Given the description of an element on the screen output the (x, y) to click on. 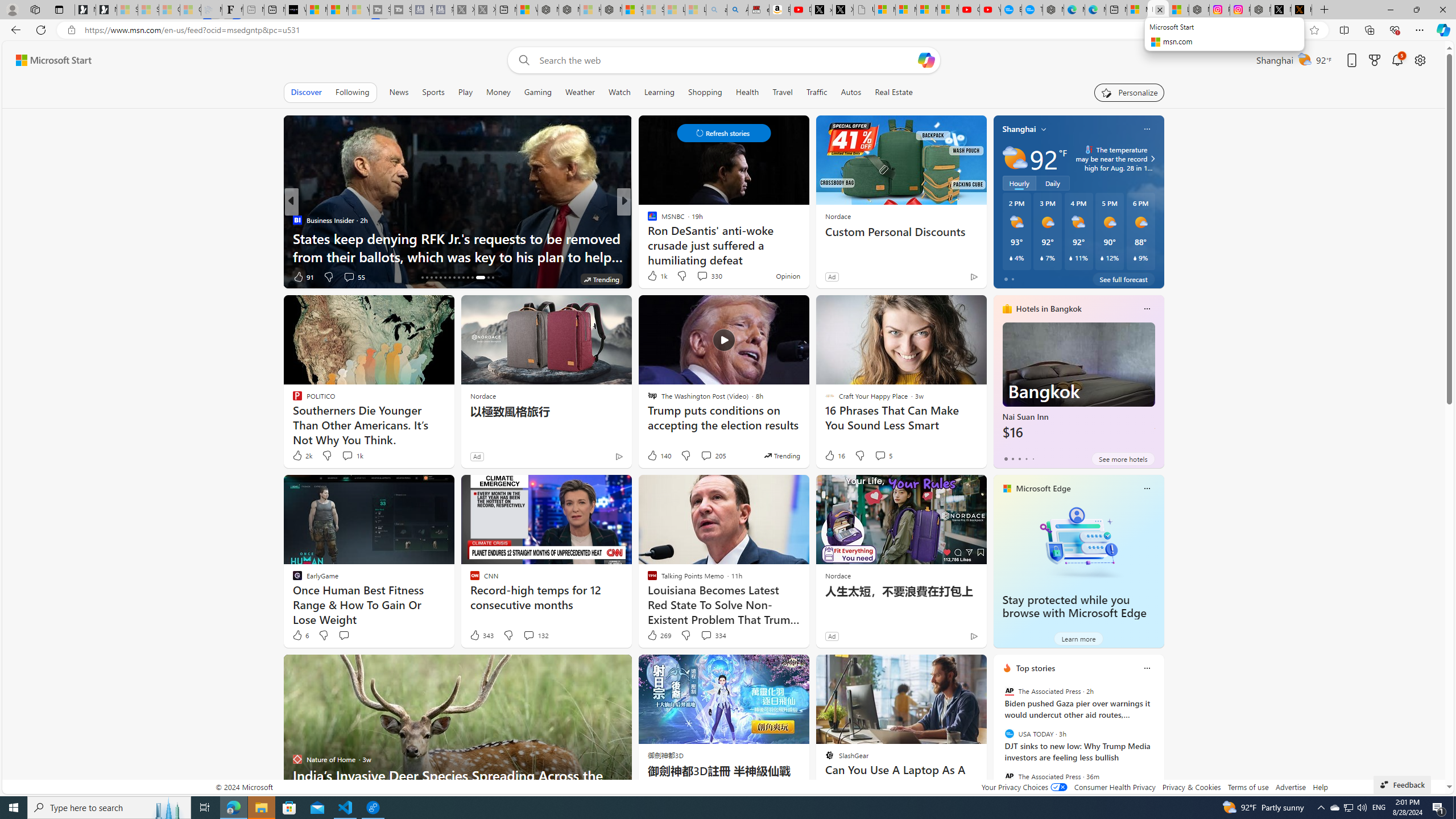
Microsoft Edge (1043, 488)
Class: control (723, 132)
Nordace (@NordaceOfficial) / X (1280, 9)
Microsoft rewards (1374, 60)
